Given the description of an element on the screen output the (x, y) to click on. 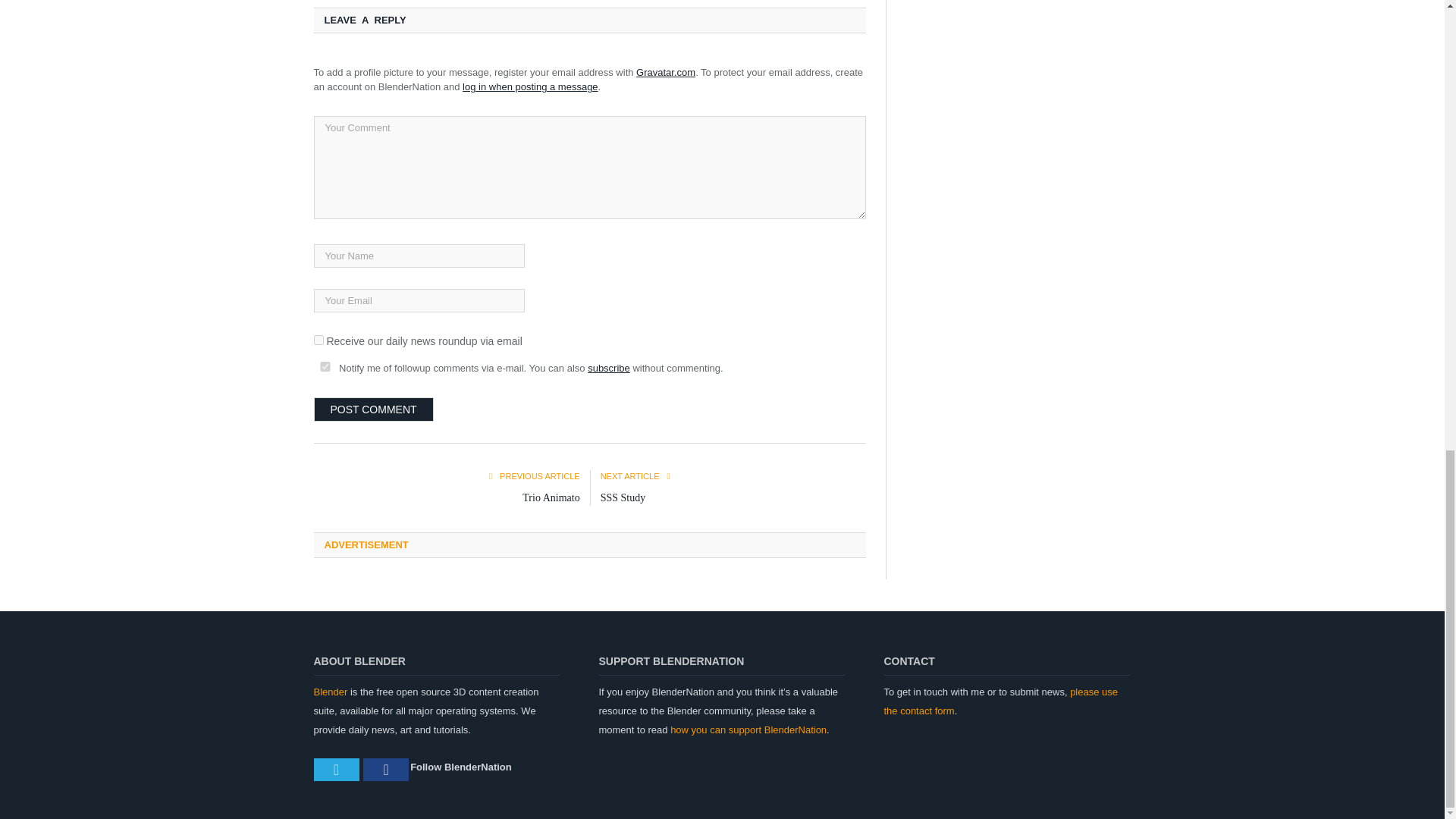
yes (325, 366)
1 (318, 339)
Follow BlenderNation on Facebook (385, 769)
Follow BlenderNation on Twitter (336, 769)
Post Comment (373, 409)
